Given the description of an element on the screen output the (x, y) to click on. 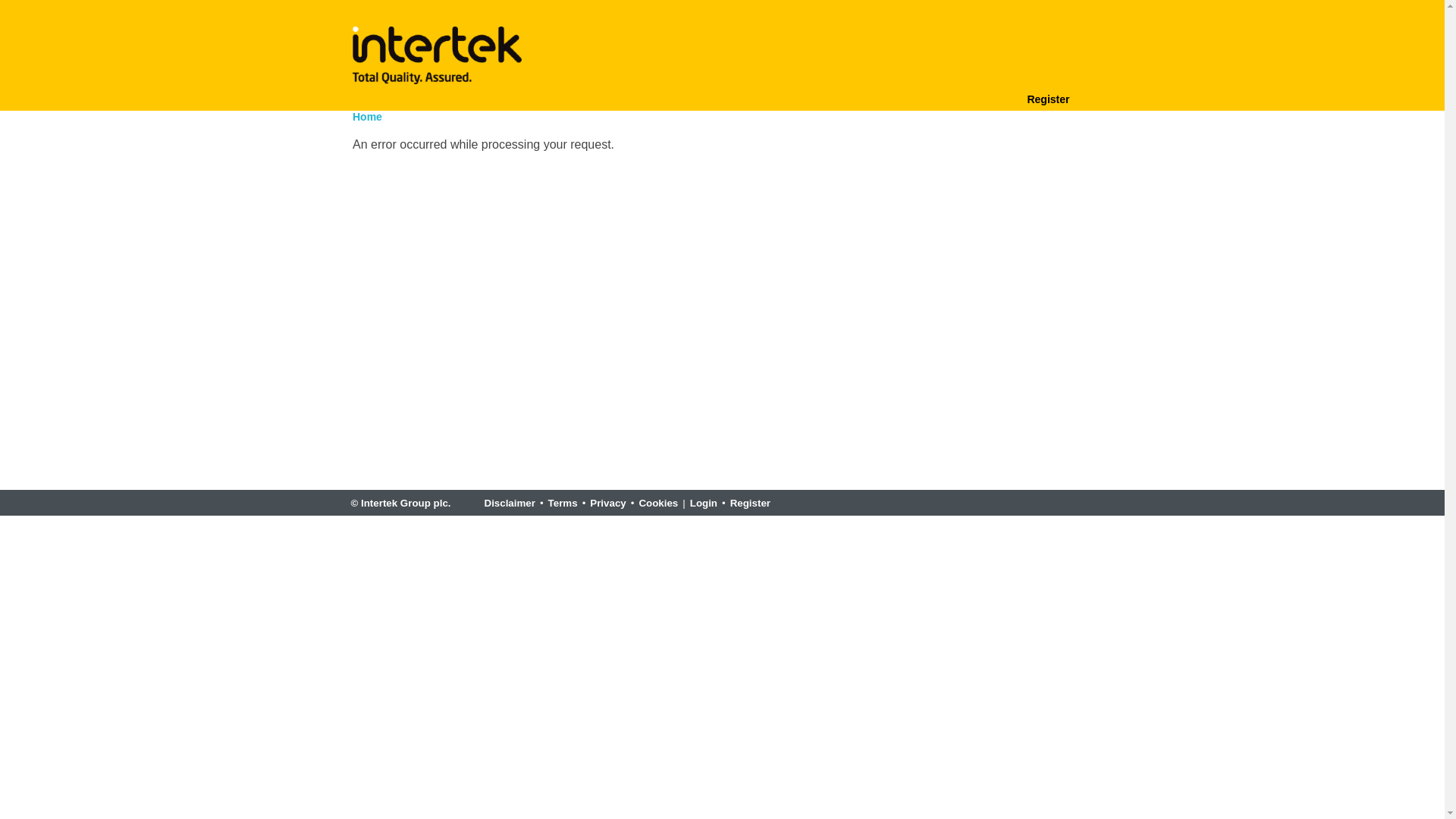
  Element type: text (995, 96)
Privacy Element type: text (607, 502)
Terms Element type: text (562, 502)
Login Element type: text (703, 502)
Cookies Element type: text (657, 502)
Register Element type: text (1047, 96)
Disclaimer Element type: text (509, 502)
Home Element type: text (367, 116)
Register Element type: text (750, 502)
